Given the description of an element on the screen output the (x, y) to click on. 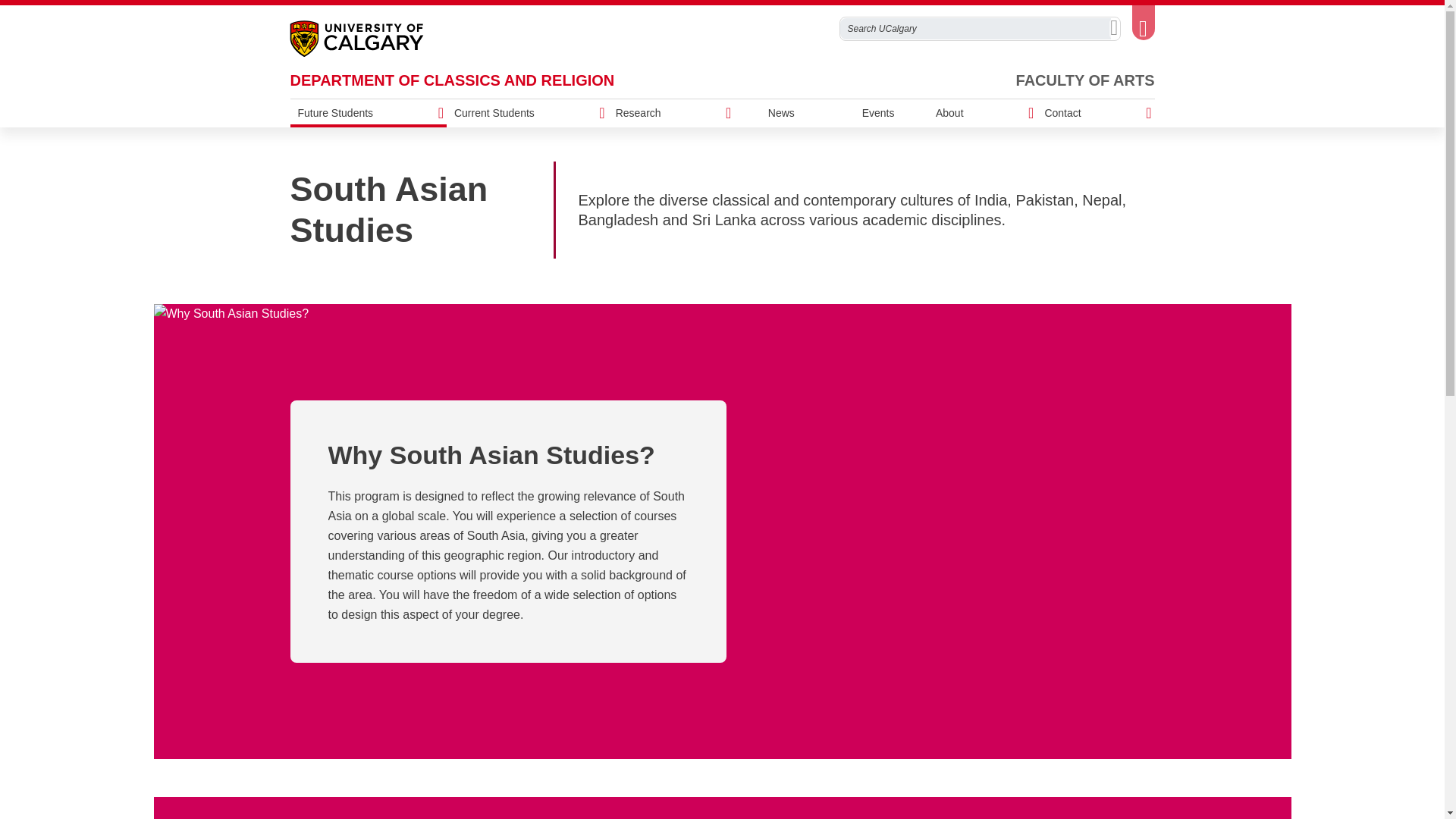
FACULTY OF ARTS (1085, 80)
